Given the description of an element on the screen output the (x, y) to click on. 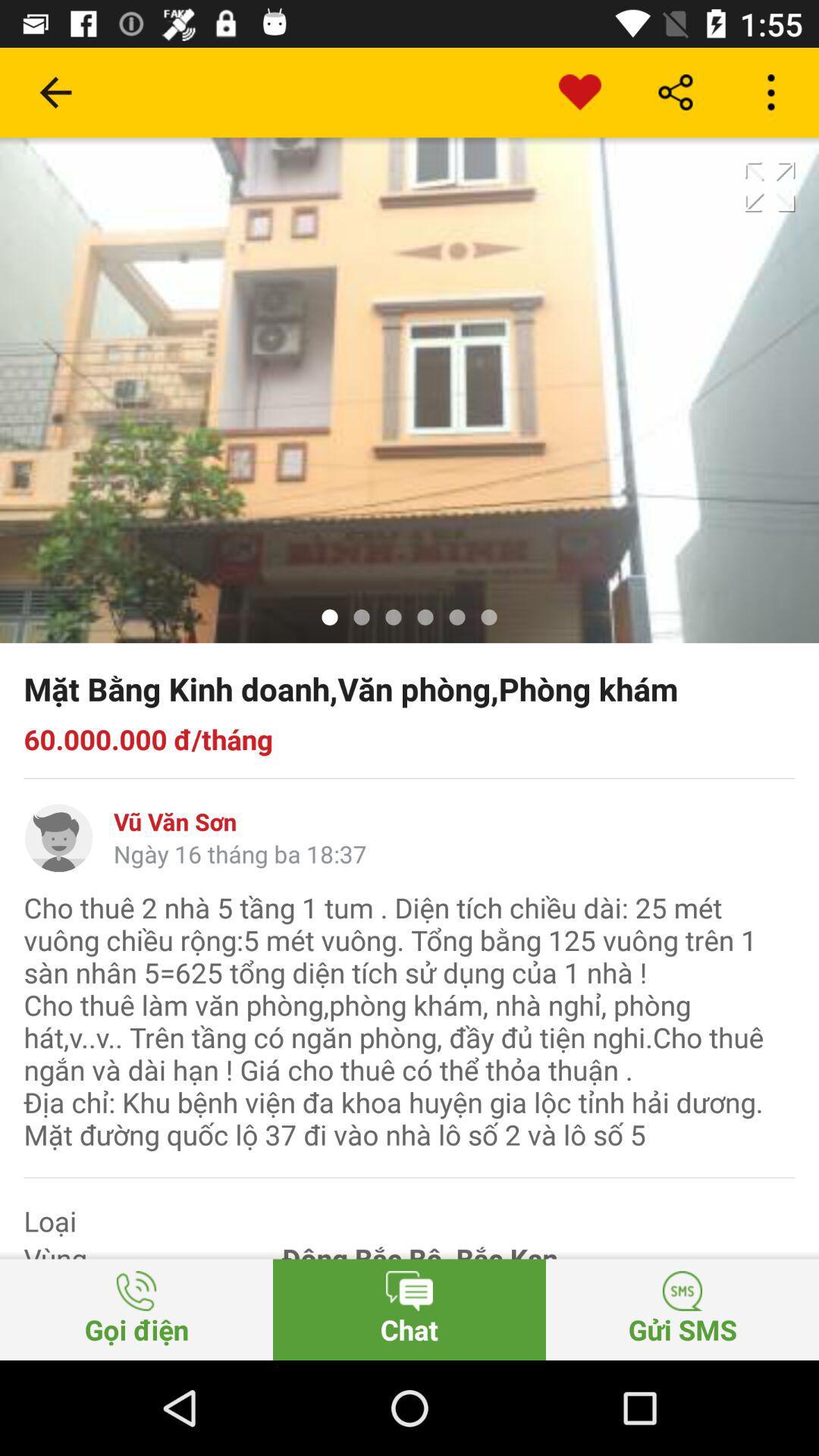
select item next to chat icon (682, 1309)
